Given the description of an element on the screen output the (x, y) to click on. 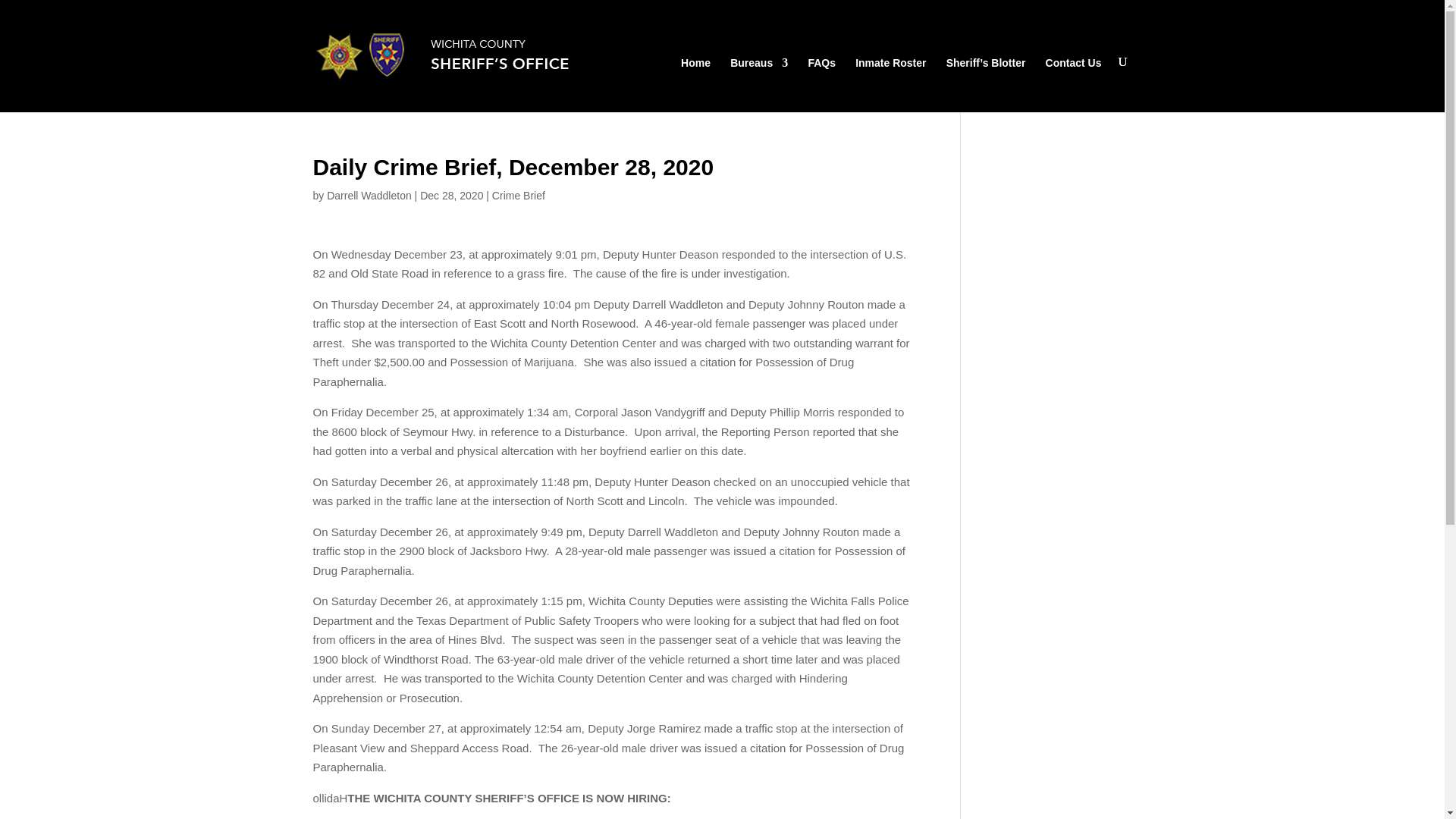
Bureaus (758, 81)
Contact Us (1073, 81)
Inmate Roster (891, 81)
Darrell Waddleton (369, 195)
Posts by Darrell Waddleton (369, 195)
Crime Brief (518, 195)
